Given the description of an element on the screen output the (x, y) to click on. 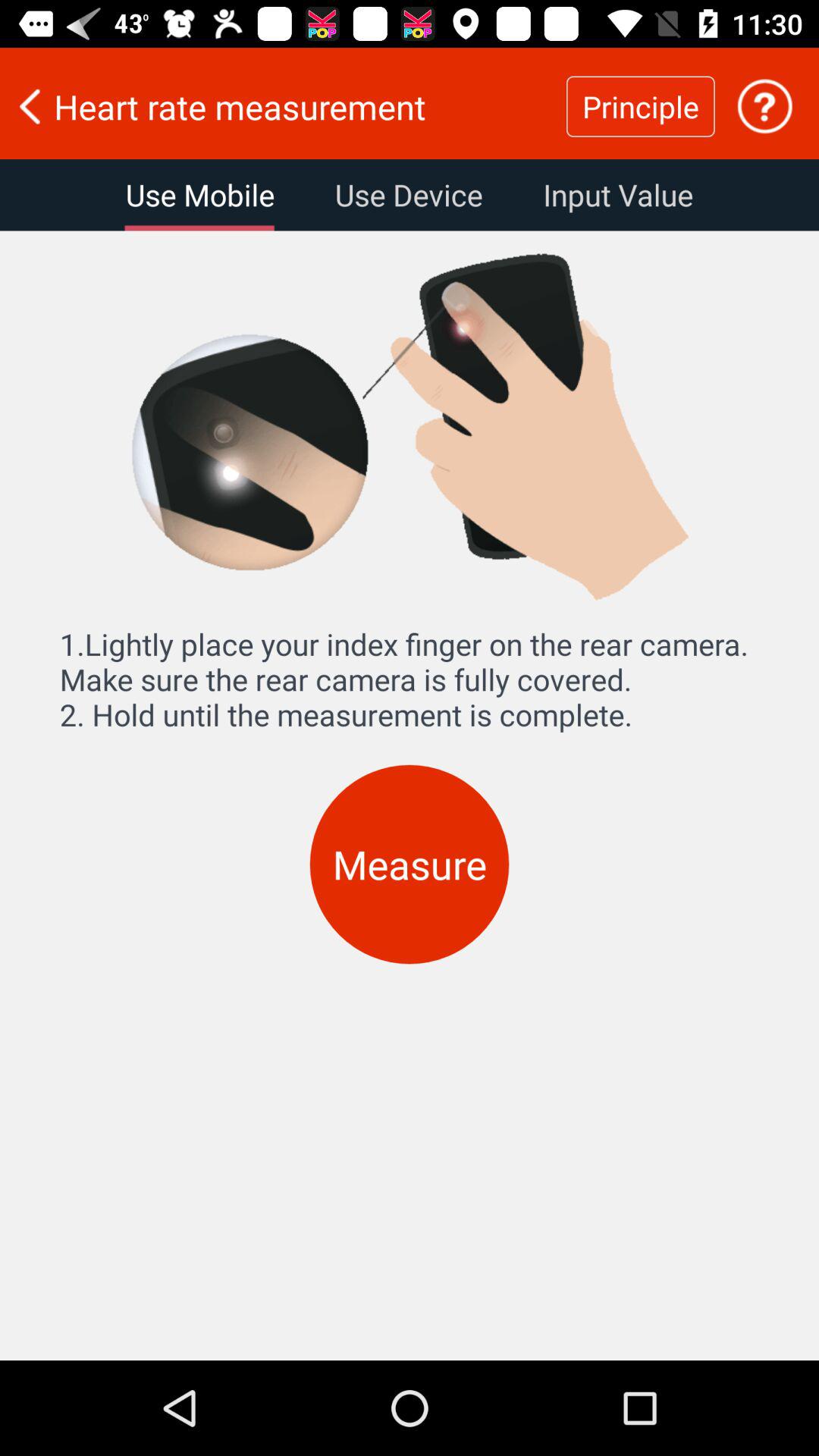
ask a question or show hints (764, 106)
